Given the description of an element on the screen output the (x, y) to click on. 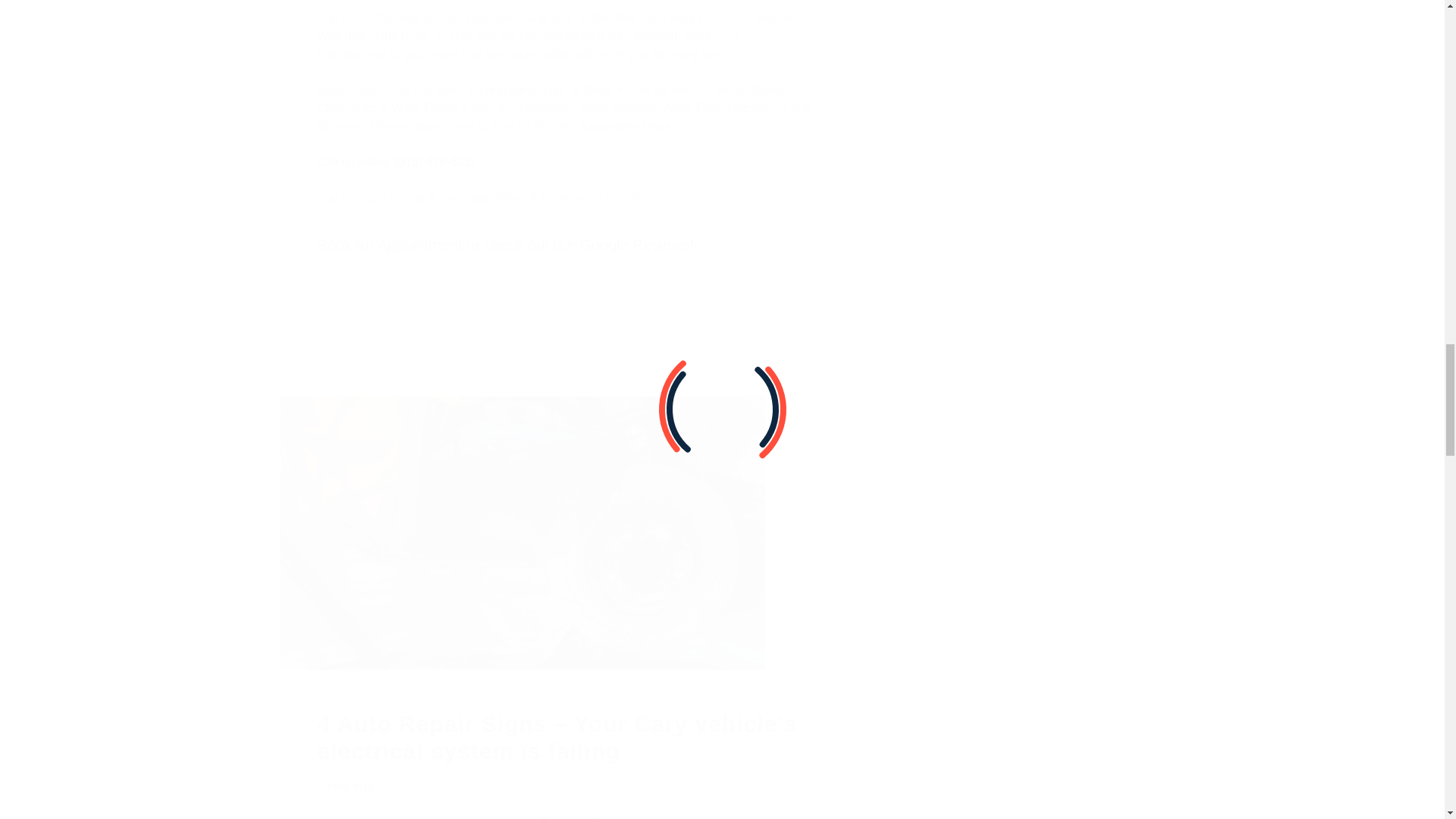
Appointment (419, 244)
Google Reviews (634, 244)
Year ago (348, 785)
